Given the description of an element on the screen output the (x, y) to click on. 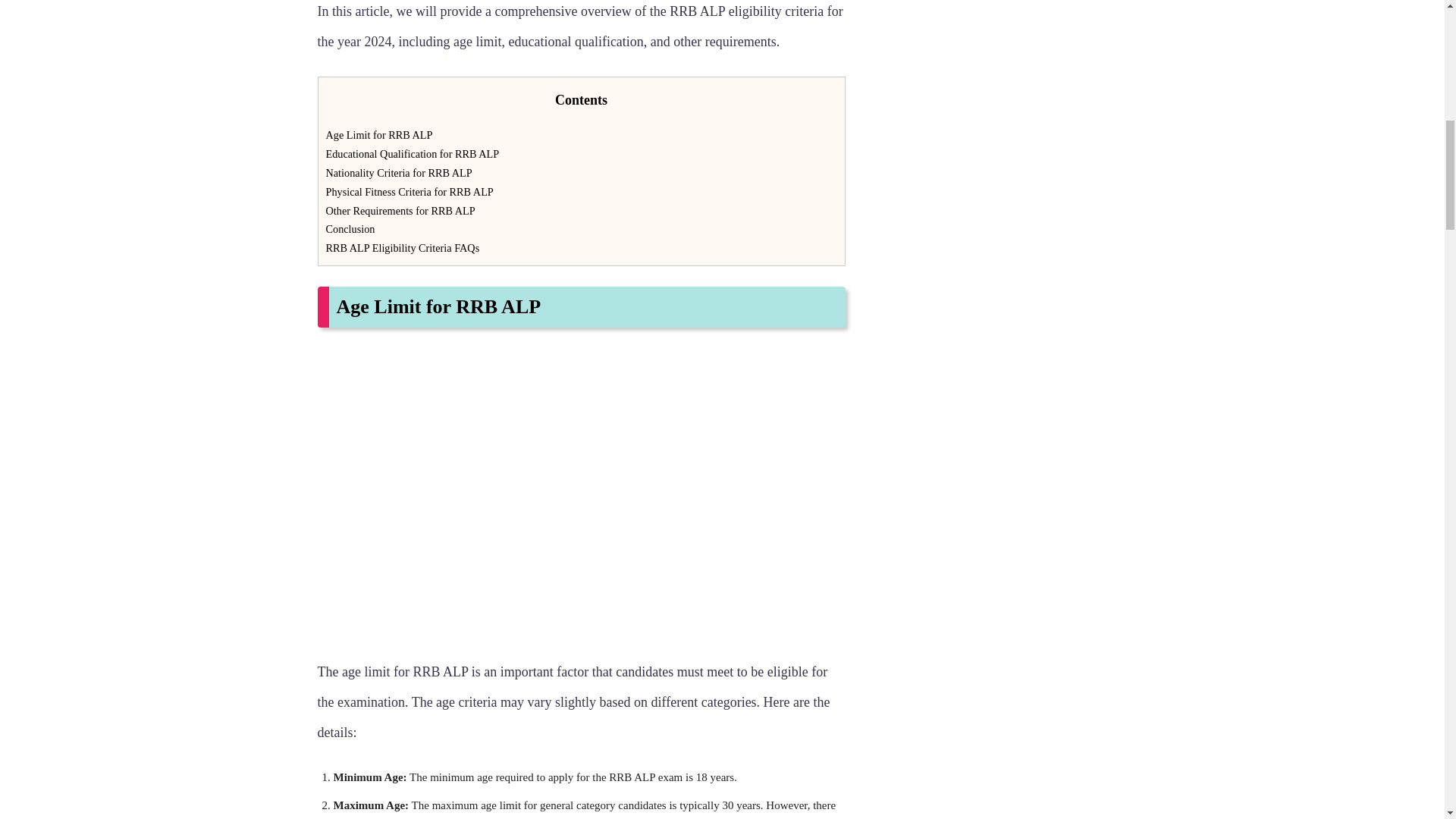
Physical Fitness Criteria for RRB ALP (409, 191)
Nationality Criteria for RRB ALP (398, 173)
Educational Qualification for RRB ALP (412, 153)
Age Limit for RRB ALP (379, 134)
